Given the description of an element on the screen output the (x, y) to click on. 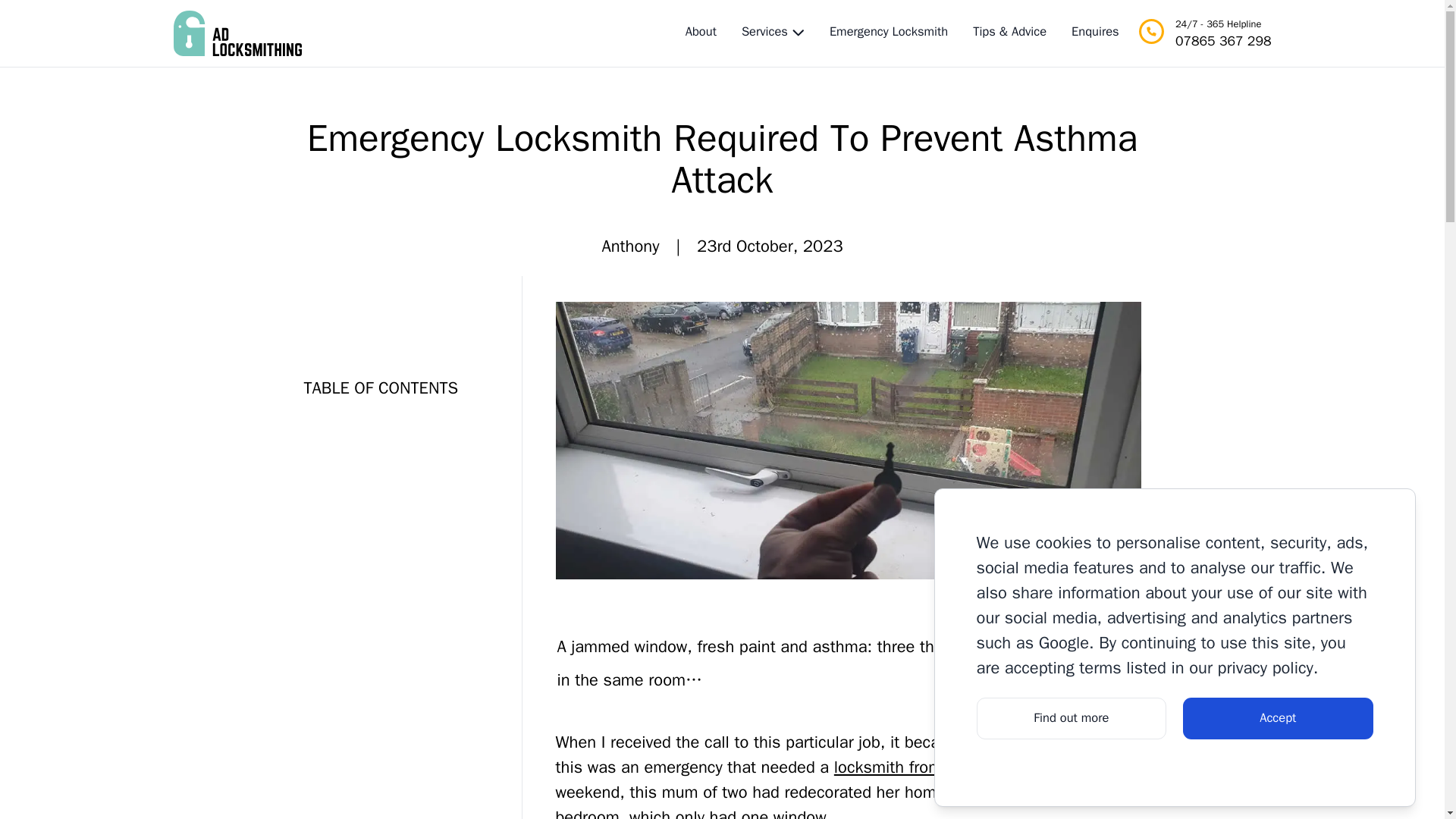
About (700, 33)
locksmith from Newcastle (928, 767)
Services (764, 31)
Message Via WhatsApp (1380, 756)
Enquires (1095, 33)
Emergency Locksmith (888, 33)
